Given the description of an element on the screen output the (x, y) to click on. 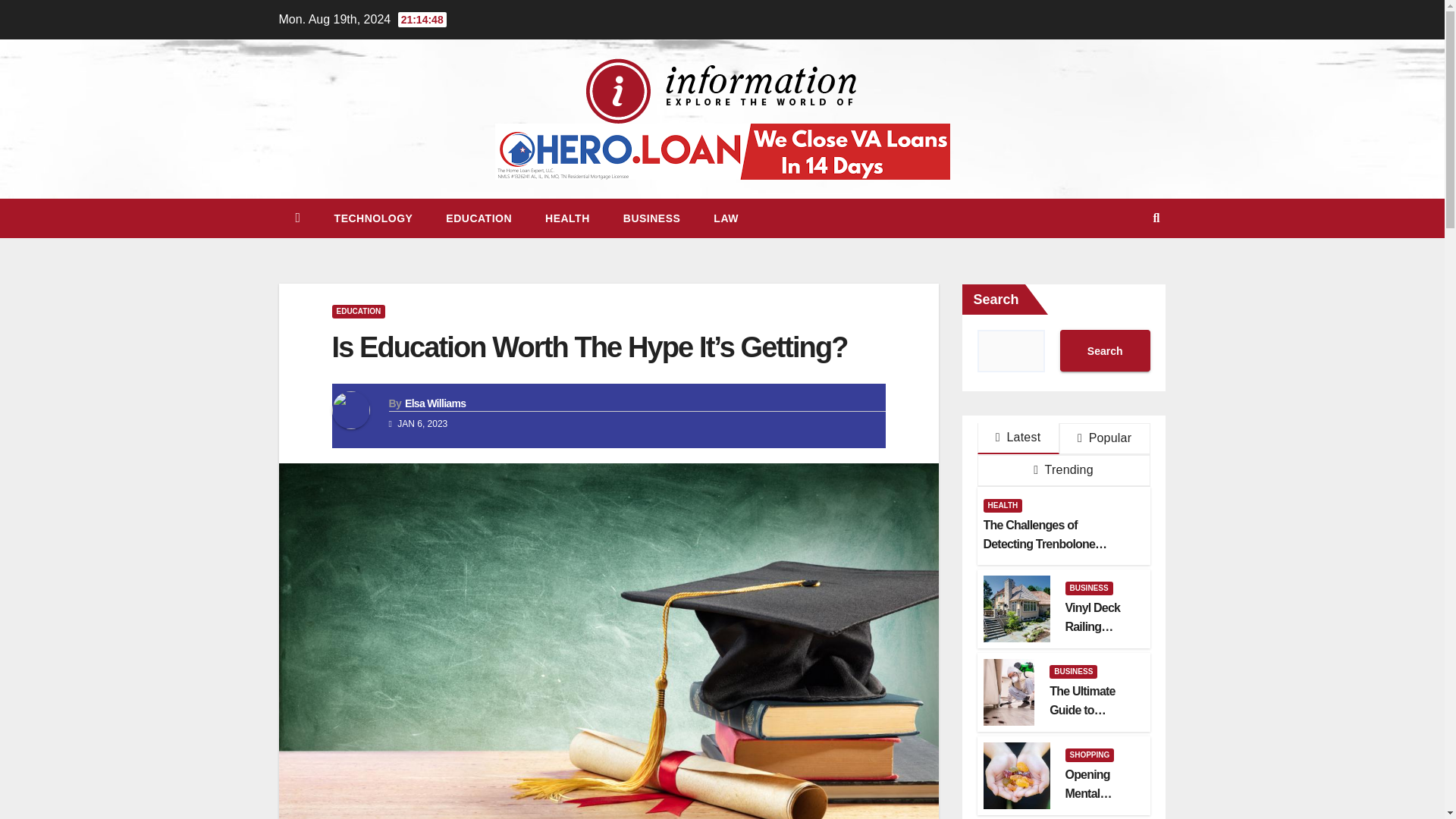
Trending (1063, 470)
Latest (1017, 438)
TECHNOLOGY (373, 218)
HEALTH (1002, 505)
BUSINESS (1088, 588)
EDUCATION (358, 311)
HEALTH (567, 218)
Business (652, 218)
Health (567, 218)
Popular (1104, 439)
